Given the description of an element on the screen output the (x, y) to click on. 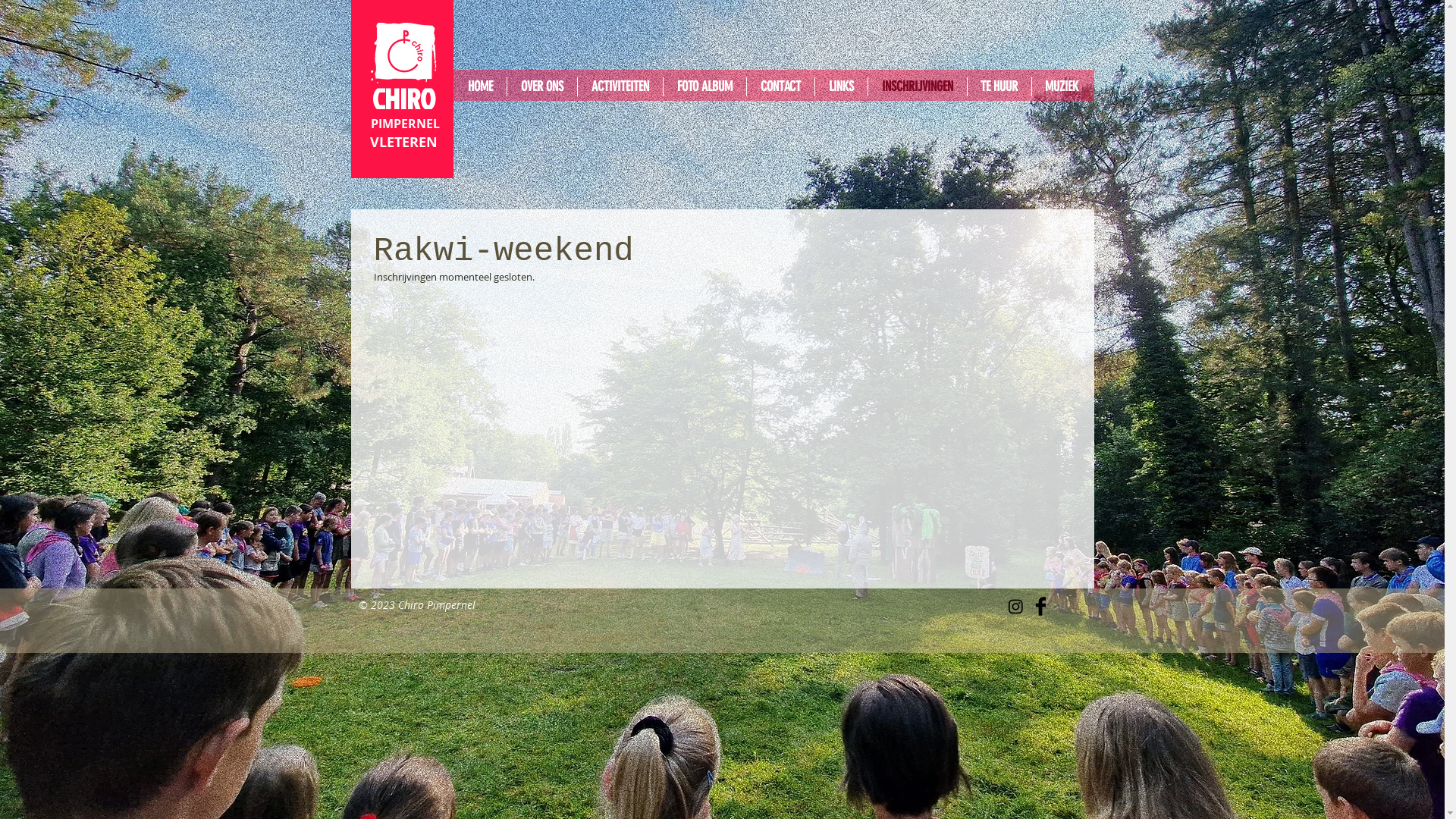
TE HUUR Element type: text (999, 86)
CHIRO Element type: text (402, 98)
ACTIVITEITEN Element type: text (619, 86)
LINKS Element type: text (840, 86)
OVER ONS Element type: text (541, 86)
Logo white.png Element type: hover (403, 52)
CONTACT Element type: text (779, 86)
MUZIEK Element type: text (1061, 86)
INSCHRIJVINGEN Element type: text (916, 86)
HOME Element type: text (479, 86)
FOTO ALBUM Element type: text (703, 86)
